Given the description of an element on the screen output the (x, y) to click on. 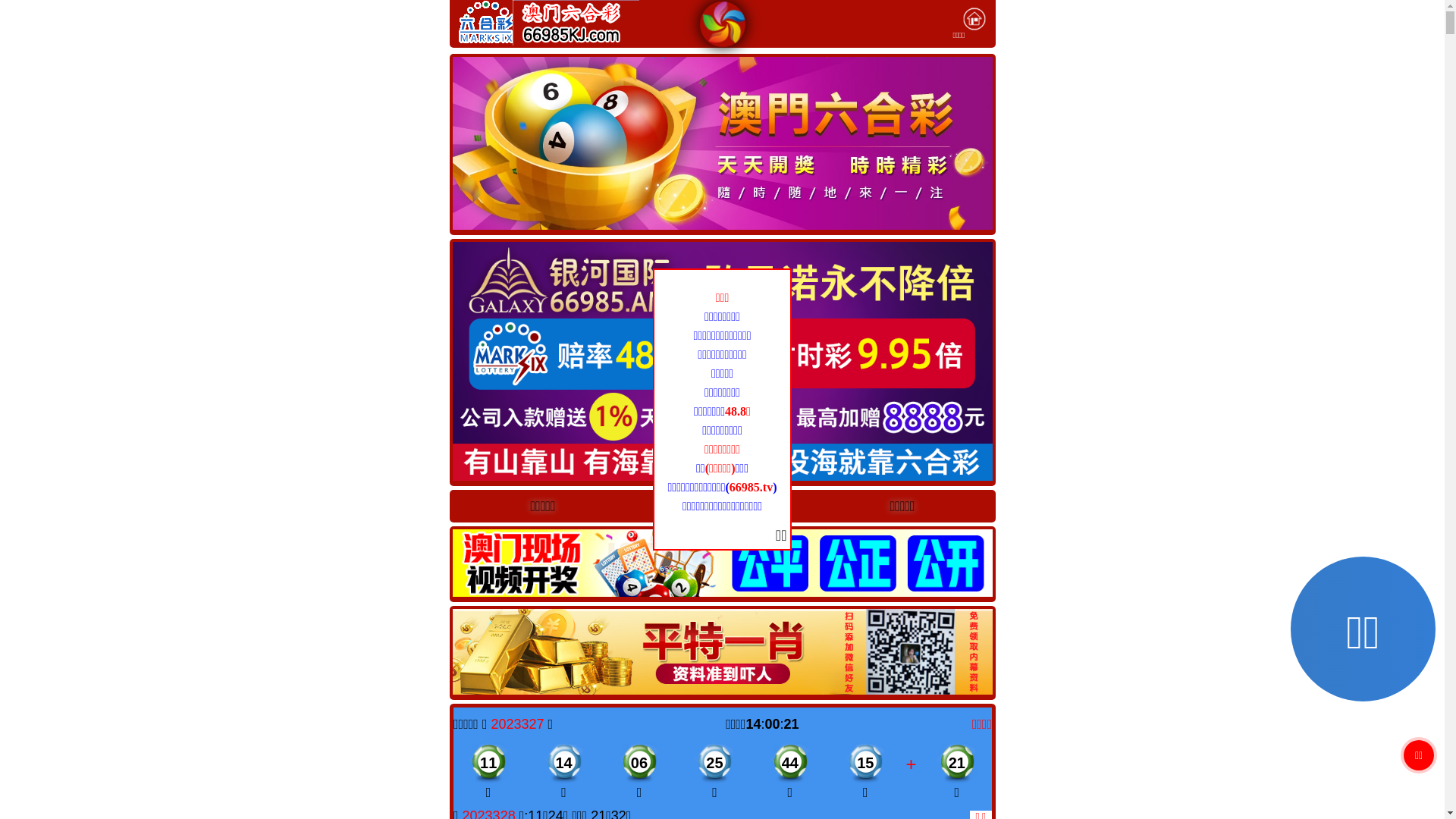
yhgj663.com Element type: text (721, 504)
